Given the description of an element on the screen output the (x, y) to click on. 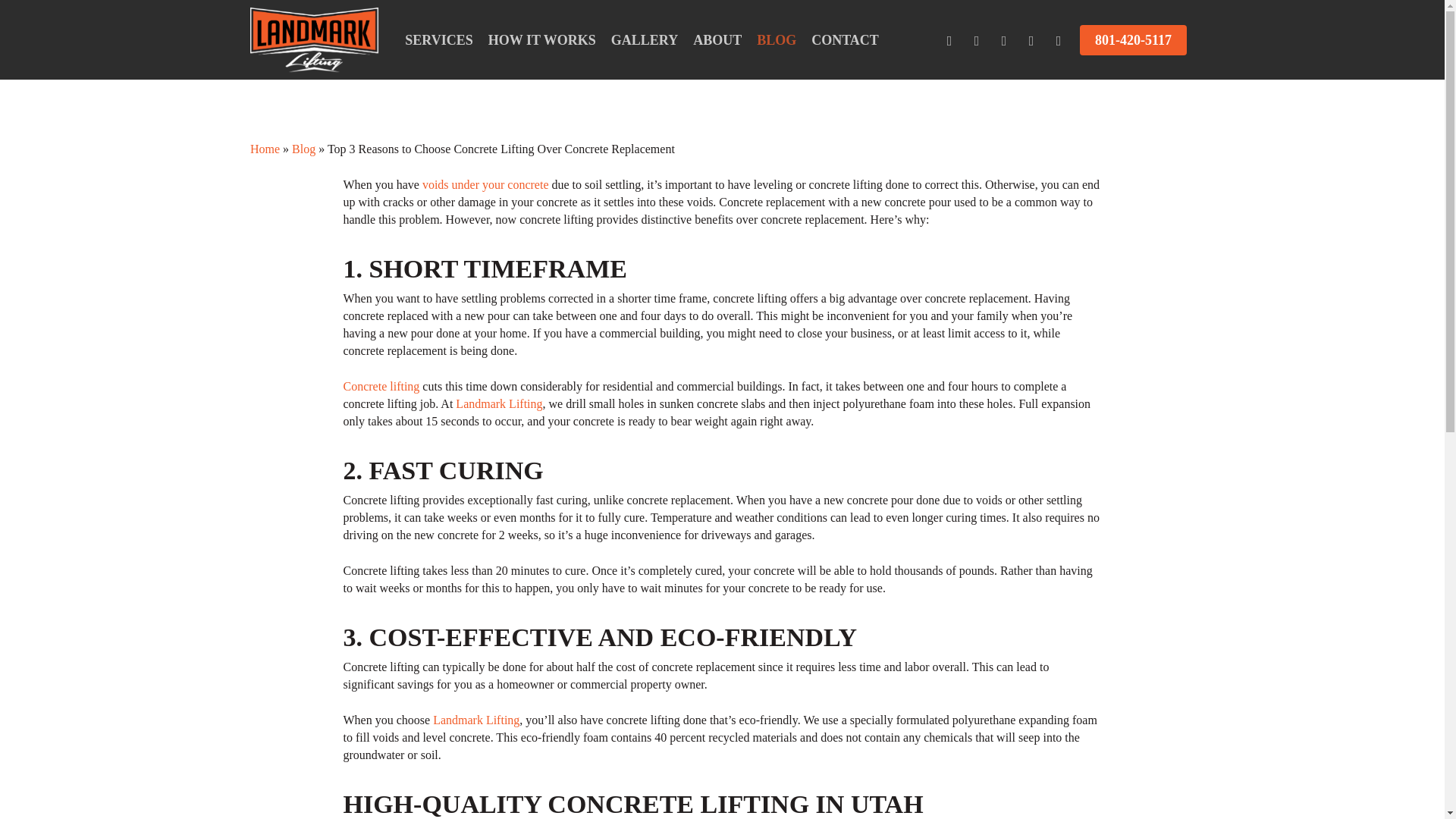
YOUTUBE (1031, 40)
BLOG (776, 39)
ABOUT (717, 39)
CONTACT (844, 39)
FACEBOOK (976, 40)
TWITTER (949, 40)
SERVICES (438, 39)
HOW IT WORKS (542, 39)
Home (264, 148)
INSTAGRAM (1058, 40)
